Given the description of an element on the screen output the (x, y) to click on. 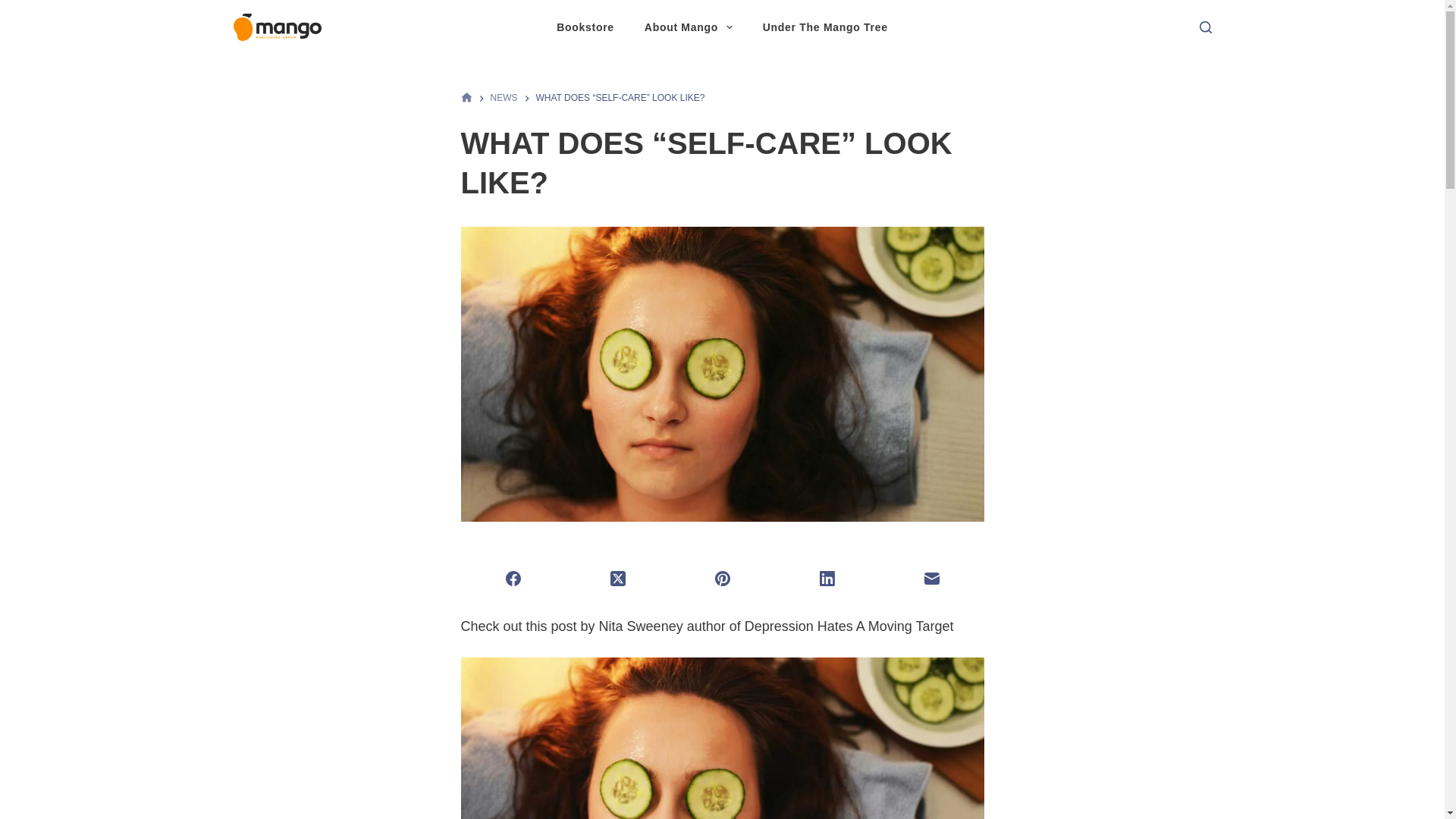
NEWS (502, 97)
Skip to content (15, 7)
Bookstore (584, 27)
About Mango (688, 27)
Under The Mango Tree (825, 27)
